Given the description of an element on the screen output the (x, y) to click on. 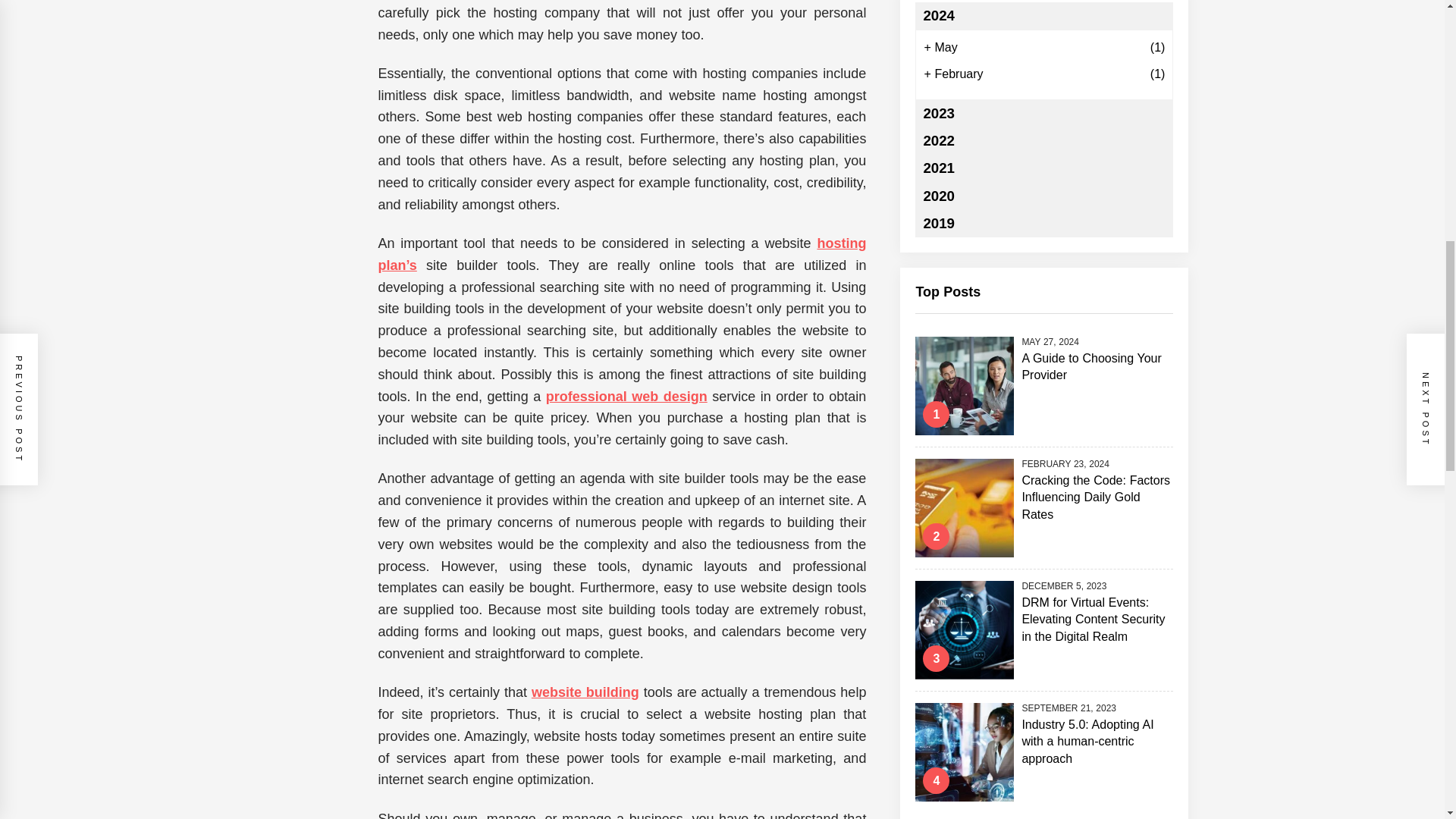
website building (585, 692)
professional web design (626, 396)
2024 (1044, 14)
